Given the description of an element on the screen output the (x, y) to click on. 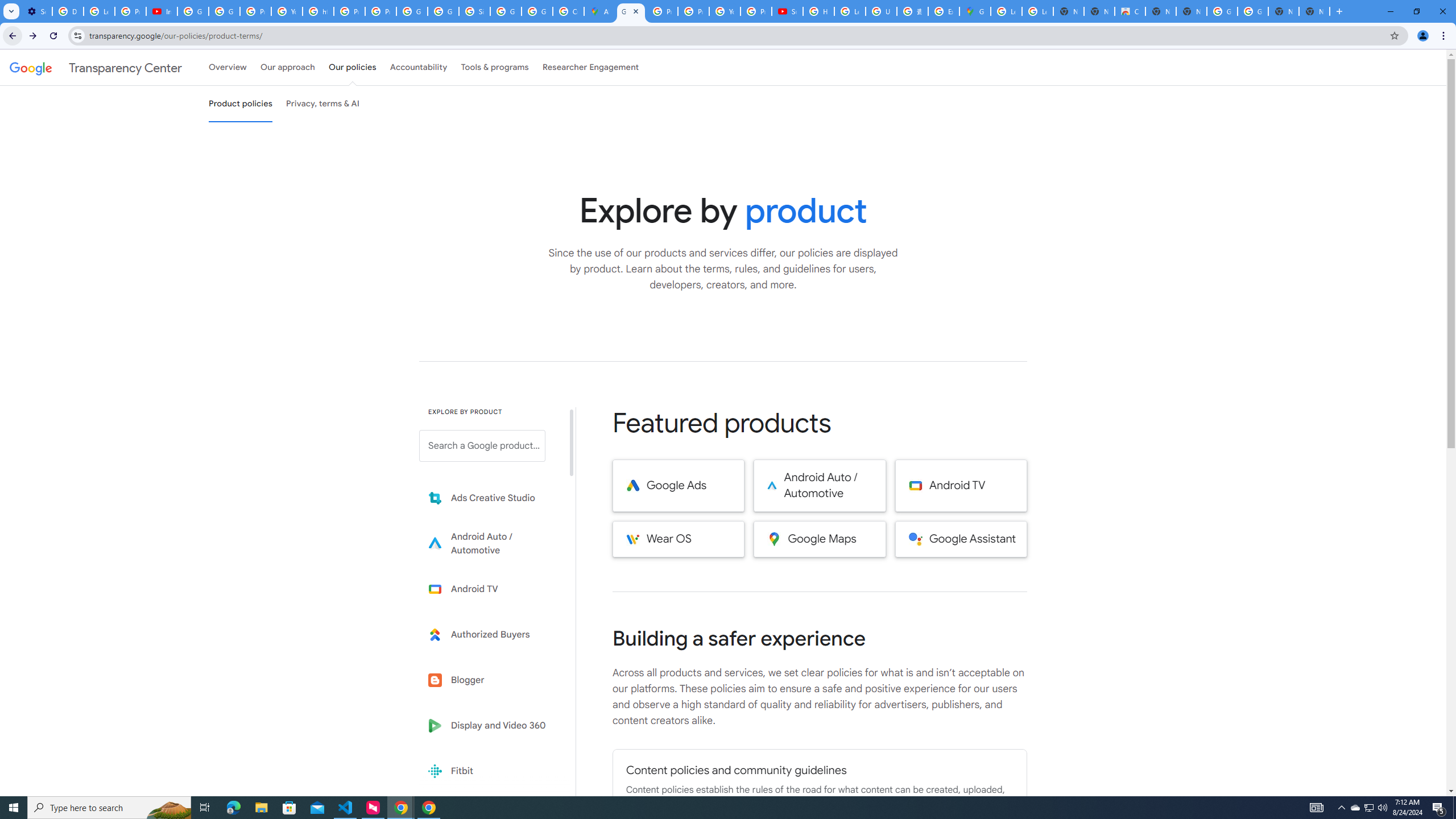
YouTube (286, 11)
Learn more about Ads Creative Studio (490, 497)
Search a Google product from below list. (481, 445)
Settings - Performance (36, 11)
YouTube (724, 11)
Google Images (1222, 11)
Delete photos & videos - Computer - Google Photos Help (67, 11)
Google Images (1252, 11)
